Given the description of an element on the screen output the (x, y) to click on. 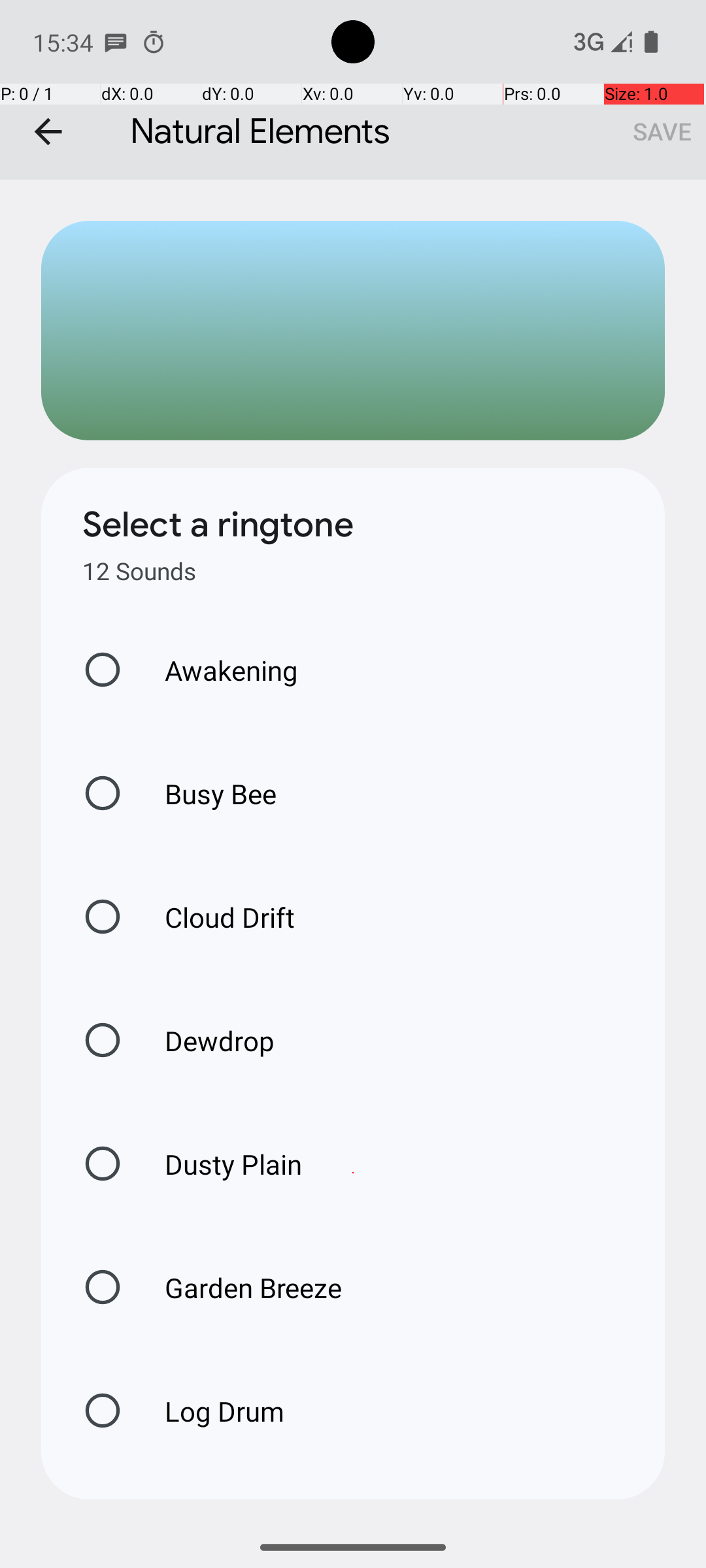
Awakening Element type: android.widget.TextView (217, 669)
Busy Bee Element type: android.widget.TextView (206, 793)
Cloud Drift Element type: android.widget.TextView (215, 916)
Dewdrop Element type: android.widget.TextView (205, 1040)
Dusty Plain Element type: android.widget.TextView (219, 1163)
Garden Breeze Element type: android.widget.TextView (239, 1287)
Log Drum Element type: android.widget.TextView (210, 1410)
